Given the description of an element on the screen output the (x, y) to click on. 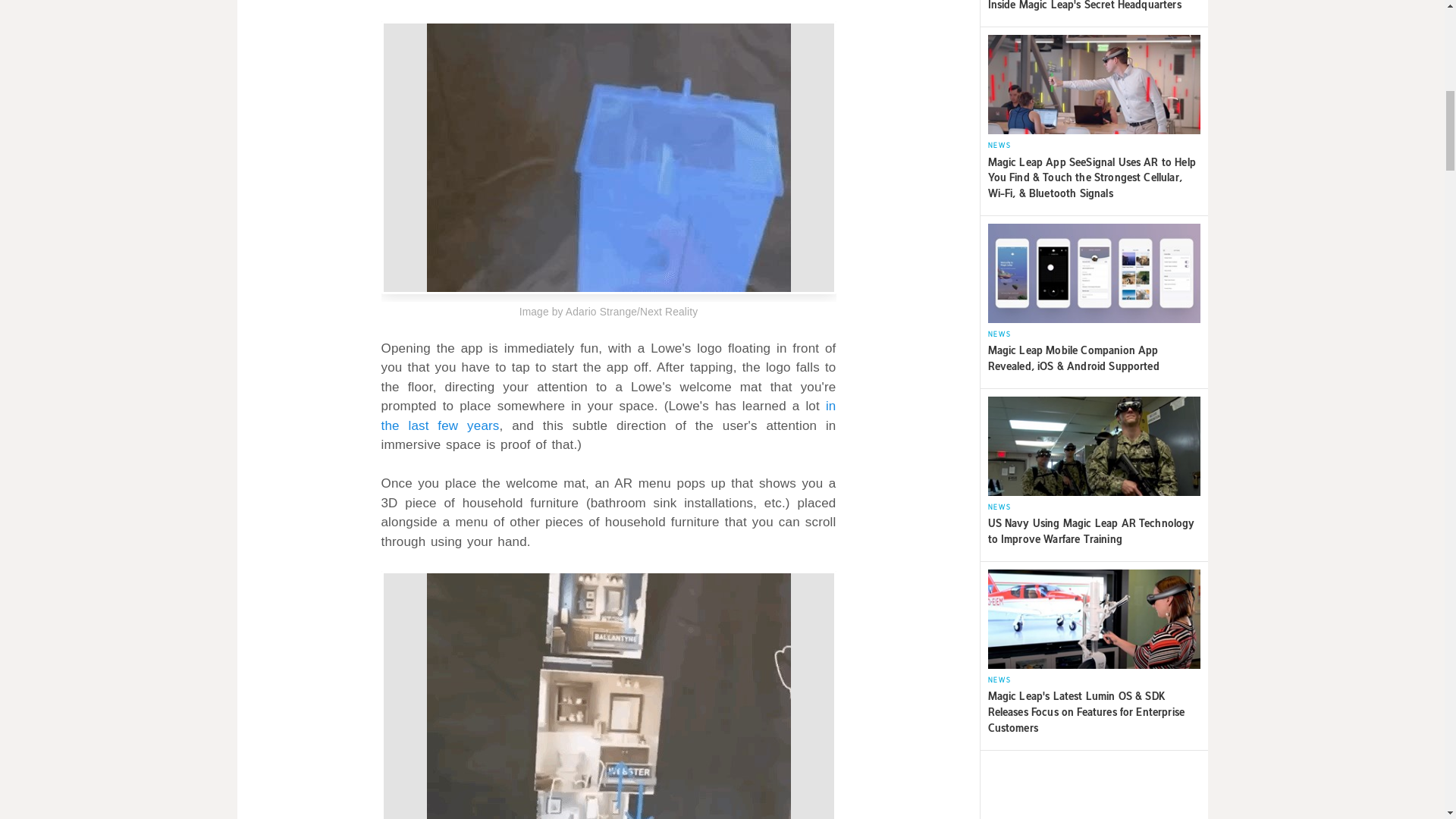
in the last few years (607, 415)
